Given the description of an element on the screen output the (x, y) to click on. 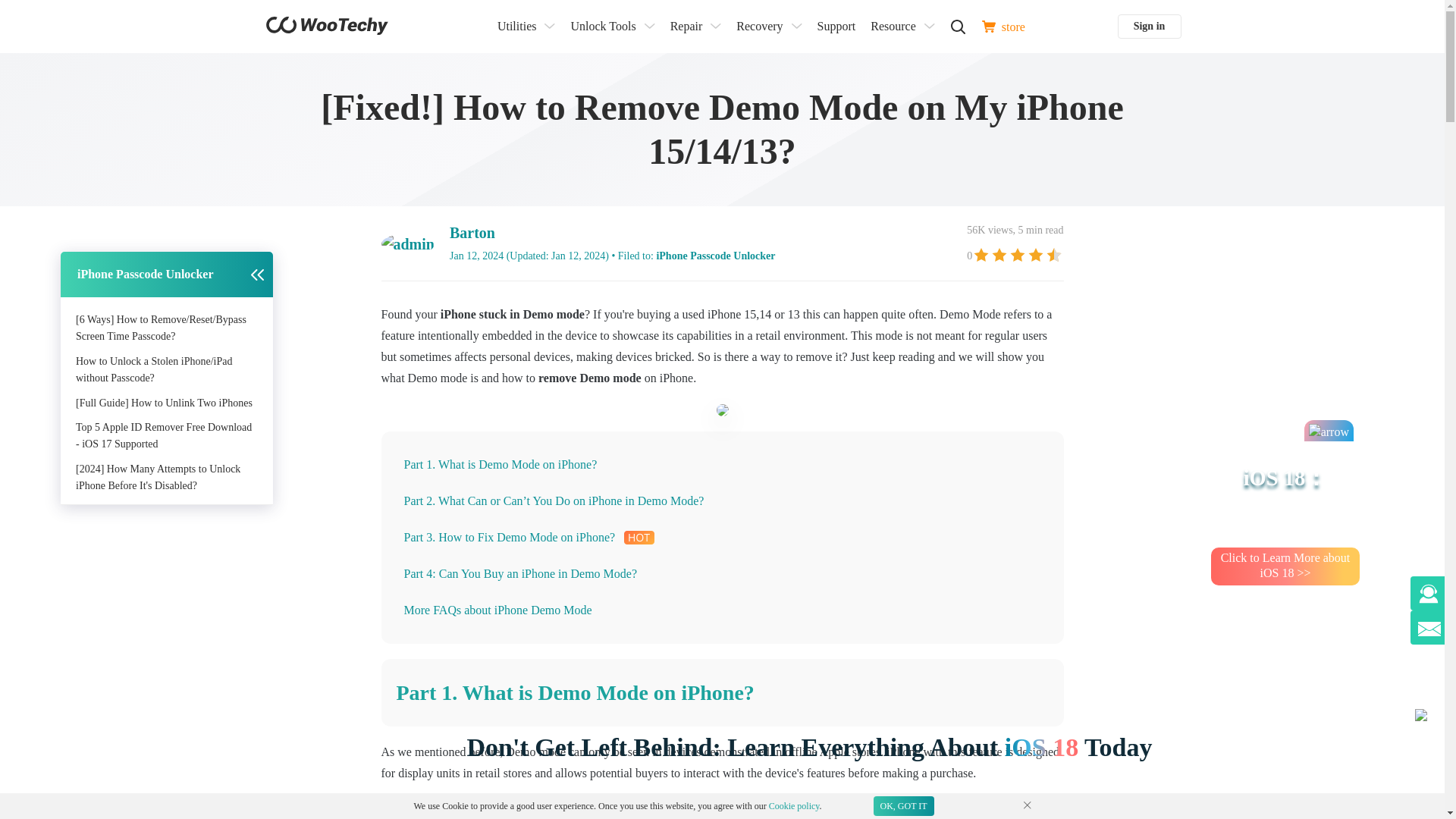
Top 5 Apple ID Remover Free Download - iOS 17 Supported (163, 435)
Cookie policy (793, 805)
iPhone Passcode Unlocker (715, 255)
Part 1. What is Demo Mode on iPhone? (499, 463)
store (1003, 25)
Barton (472, 232)
